Given the description of an element on the screen output the (x, y) to click on. 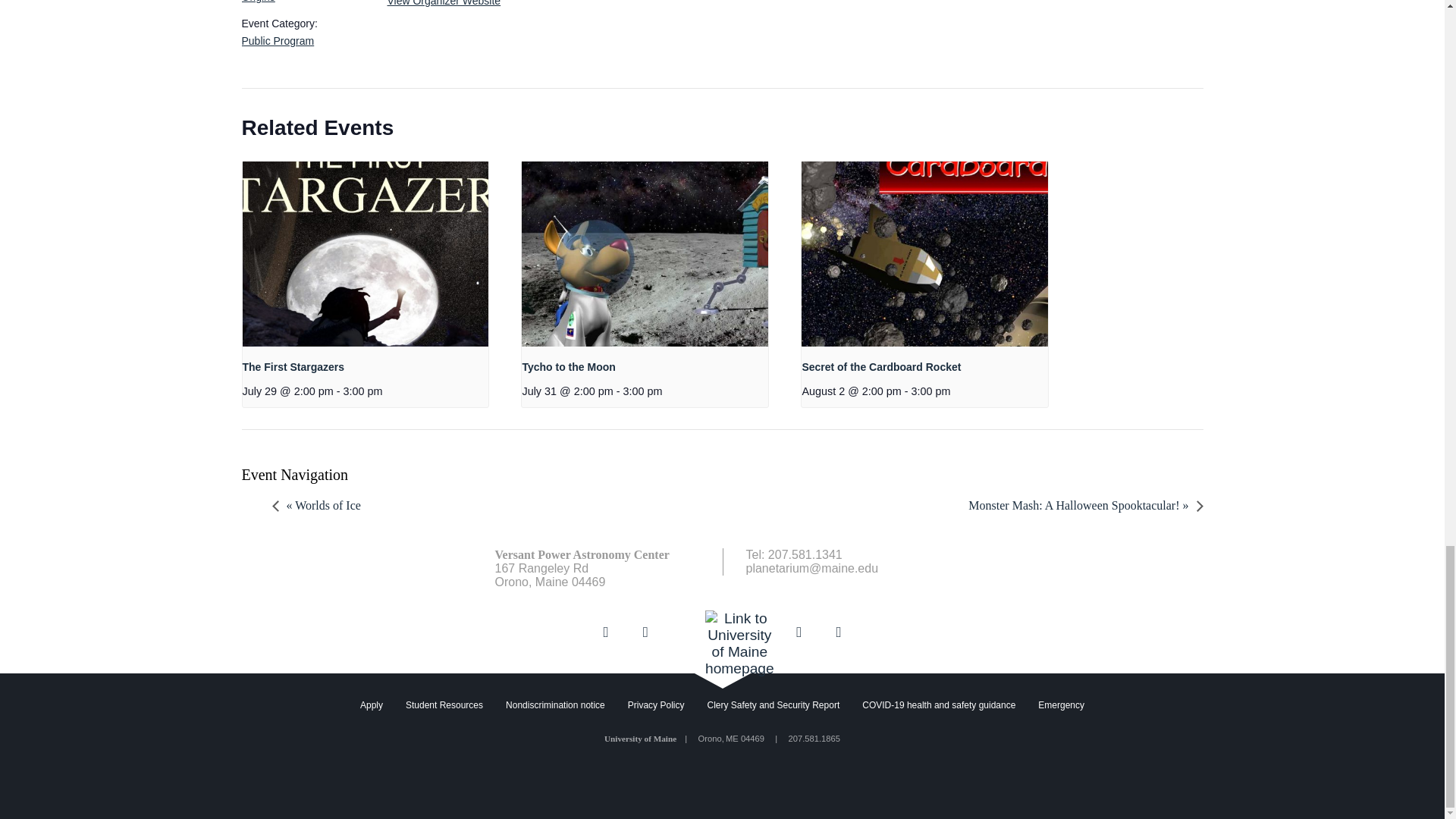
Halloween: Celestial Origins (289, 1)
